Given the description of an element on the screen output the (x, y) to click on. 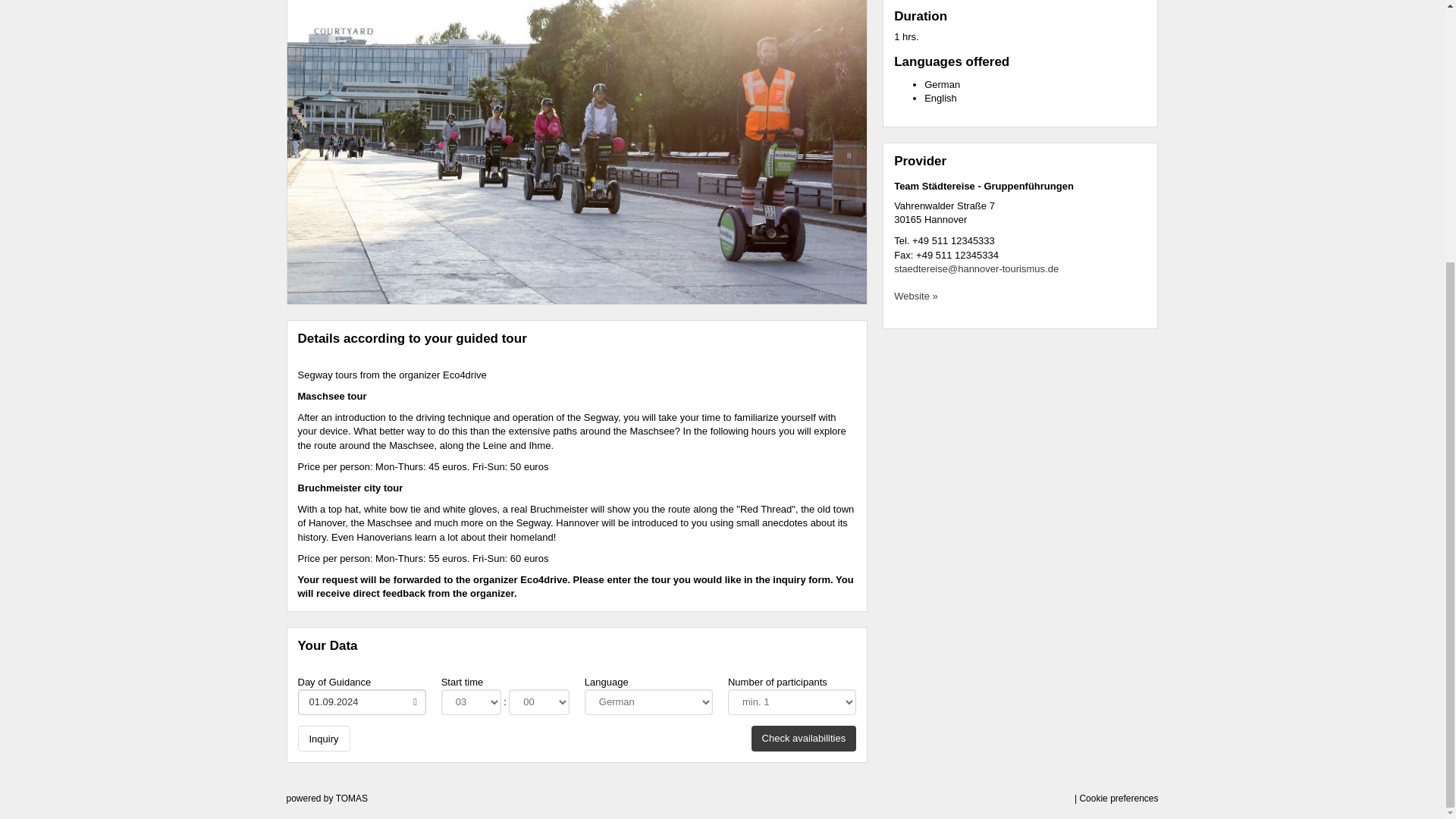
01.09.2024 (361, 701)
Cookie preferences (1117, 798)
Inquiry (323, 738)
Check availabilities (804, 738)
Cookie preferences (1117, 798)
